Given the description of an element on the screen output the (x, y) to click on. 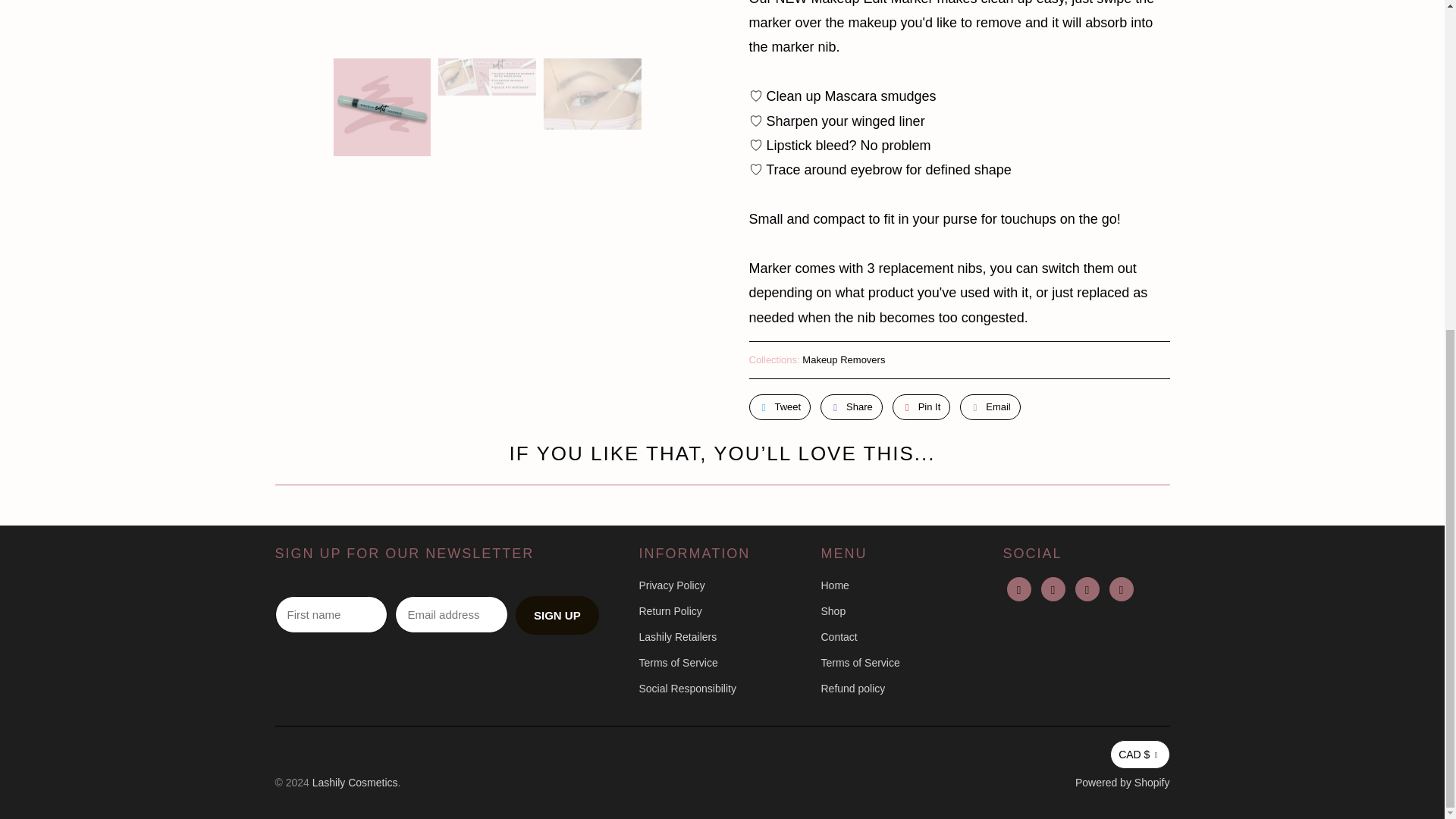
Lashily Cosmetics on Facebook (1018, 589)
Share this on Facebook (851, 406)
Makeup Removers (843, 359)
Share this on Twitter (779, 406)
Sign Up (556, 615)
Share this on Pinterest (921, 406)
Email this to a friend (989, 406)
Makeup EDIT Marker (485, 21)
Lashily Cosmetics on YouTube (1052, 589)
